Given the description of an element on the screen output the (x, y) to click on. 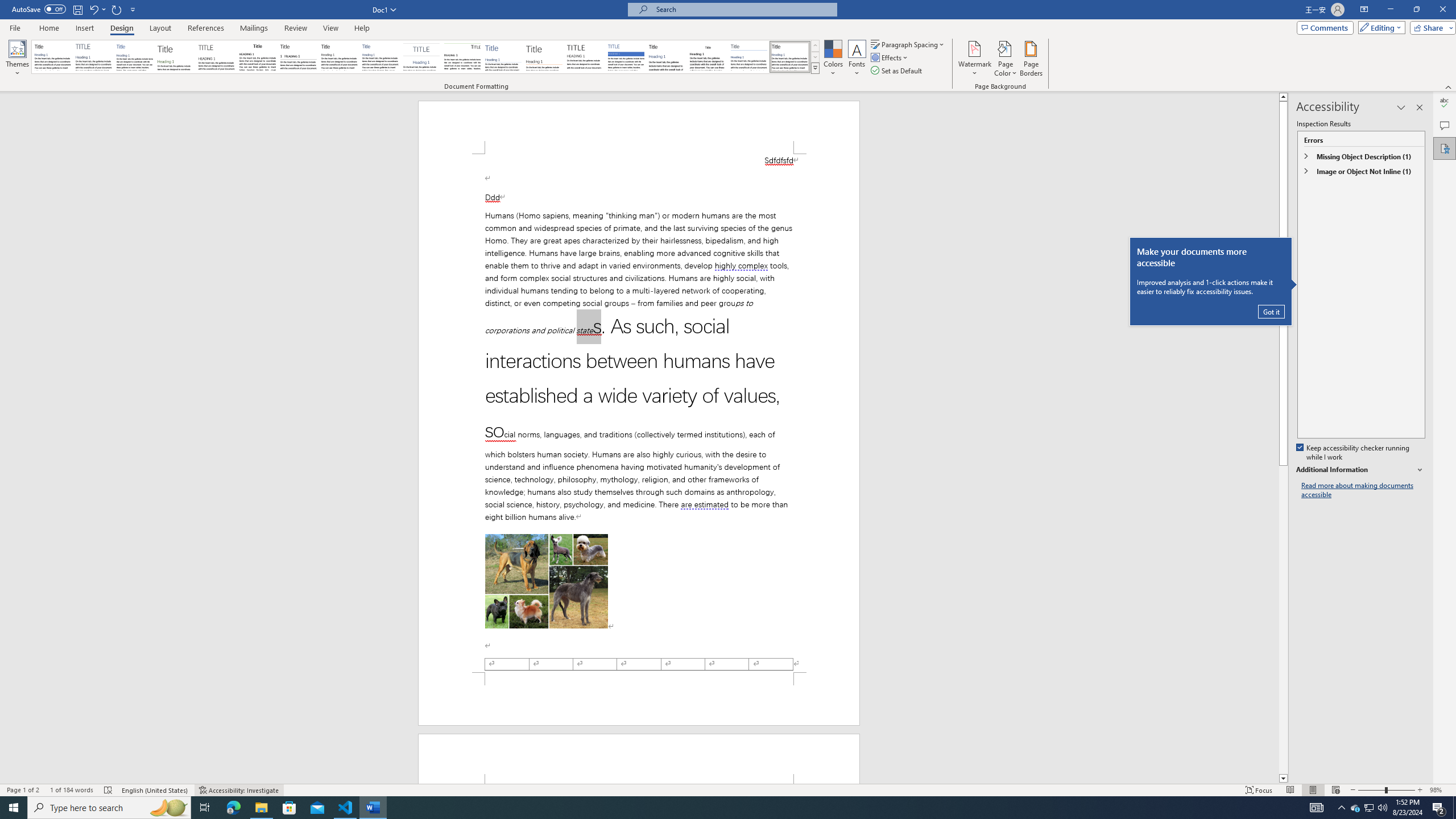
Lines (Distinctive) (462, 56)
Watermark (974, 58)
Black & White (Capitalized) (216, 56)
Black & White (Numbered) (298, 56)
Editing (1379, 27)
Colors (832, 58)
View (330, 28)
Focus  (1258, 790)
Morphological variation in six dogs (546, 580)
Page Color (1005, 58)
Design (122, 28)
Review (295, 28)
